Given the description of an element on the screen output the (x, y) to click on. 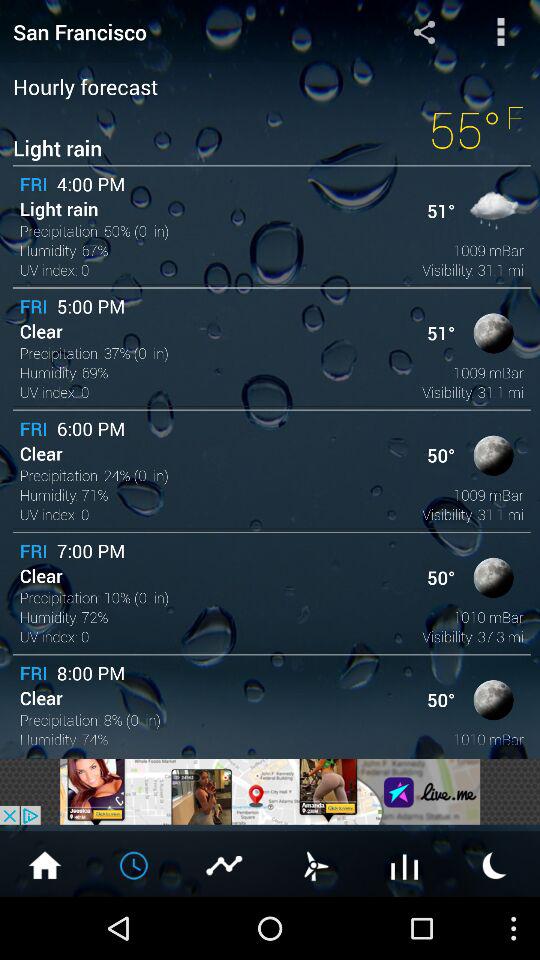
show wind forecast (315, 864)
